Given the description of an element on the screen output the (x, y) to click on. 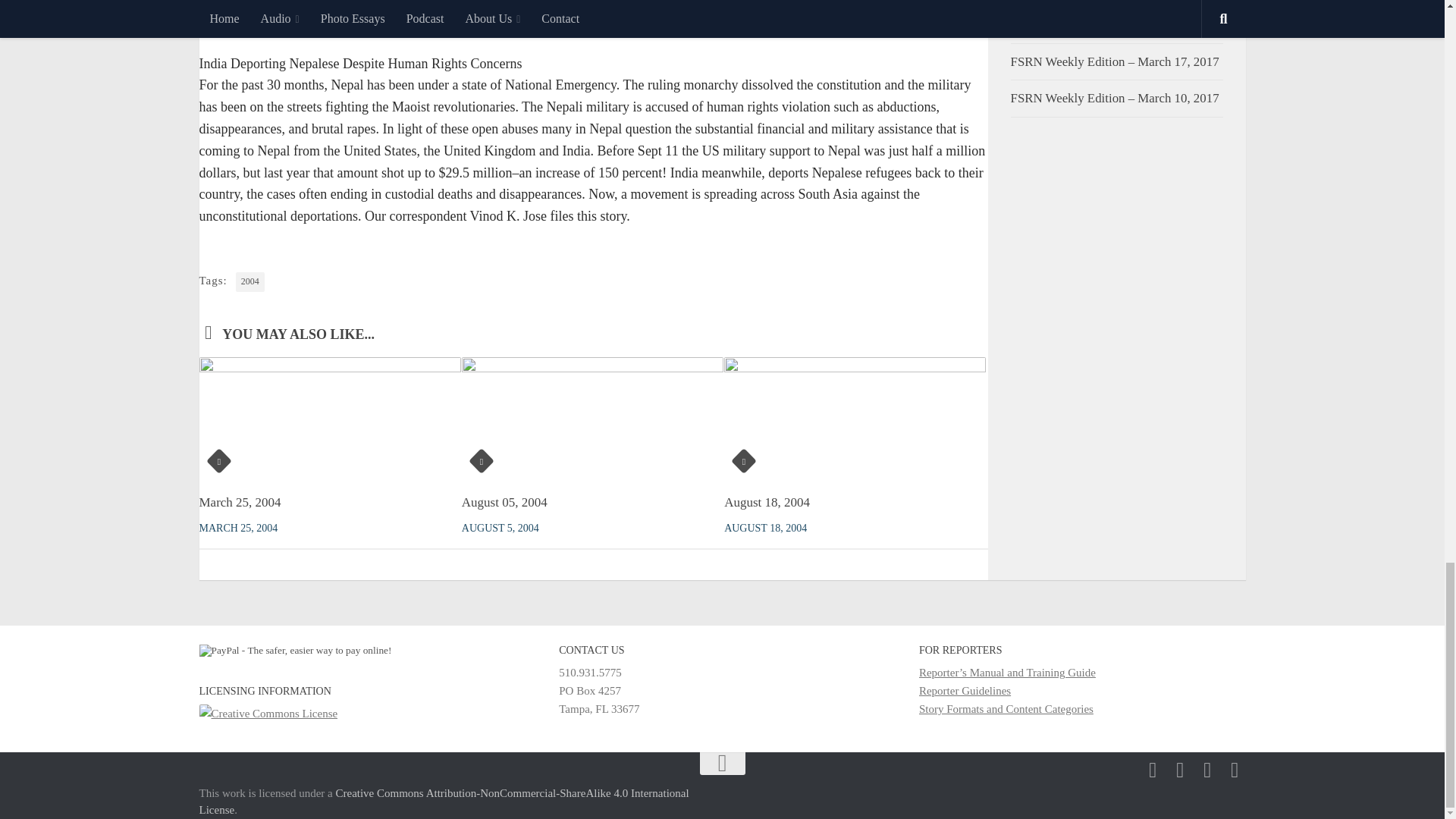
March 25, 2004 (239, 502)
August 05, 2004 (504, 502)
August 18, 2004 (766, 502)
2004 (249, 281)
